Given the description of an element on the screen output the (x, y) to click on. 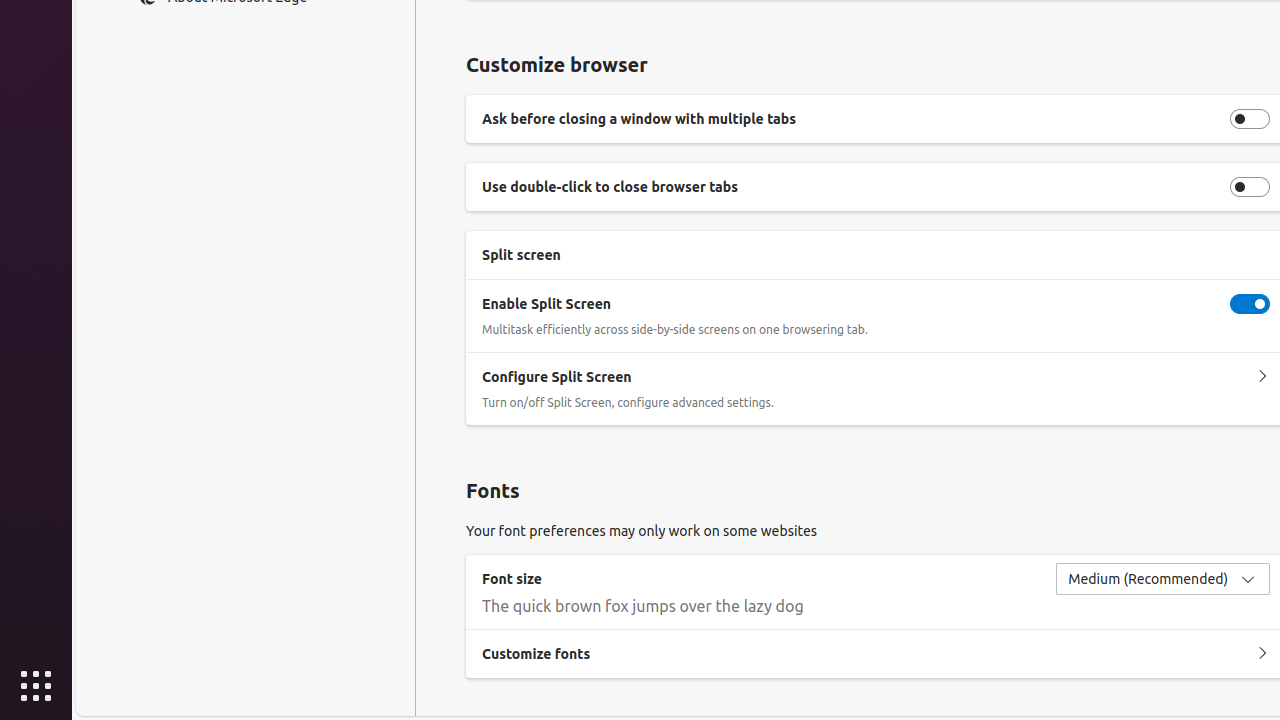
Font size Medium (Recommended) Element type: push-button (1163, 579)
Customize fonts Element type: push-button (1262, 654)
